Given the description of an element on the screen output the (x, y) to click on. 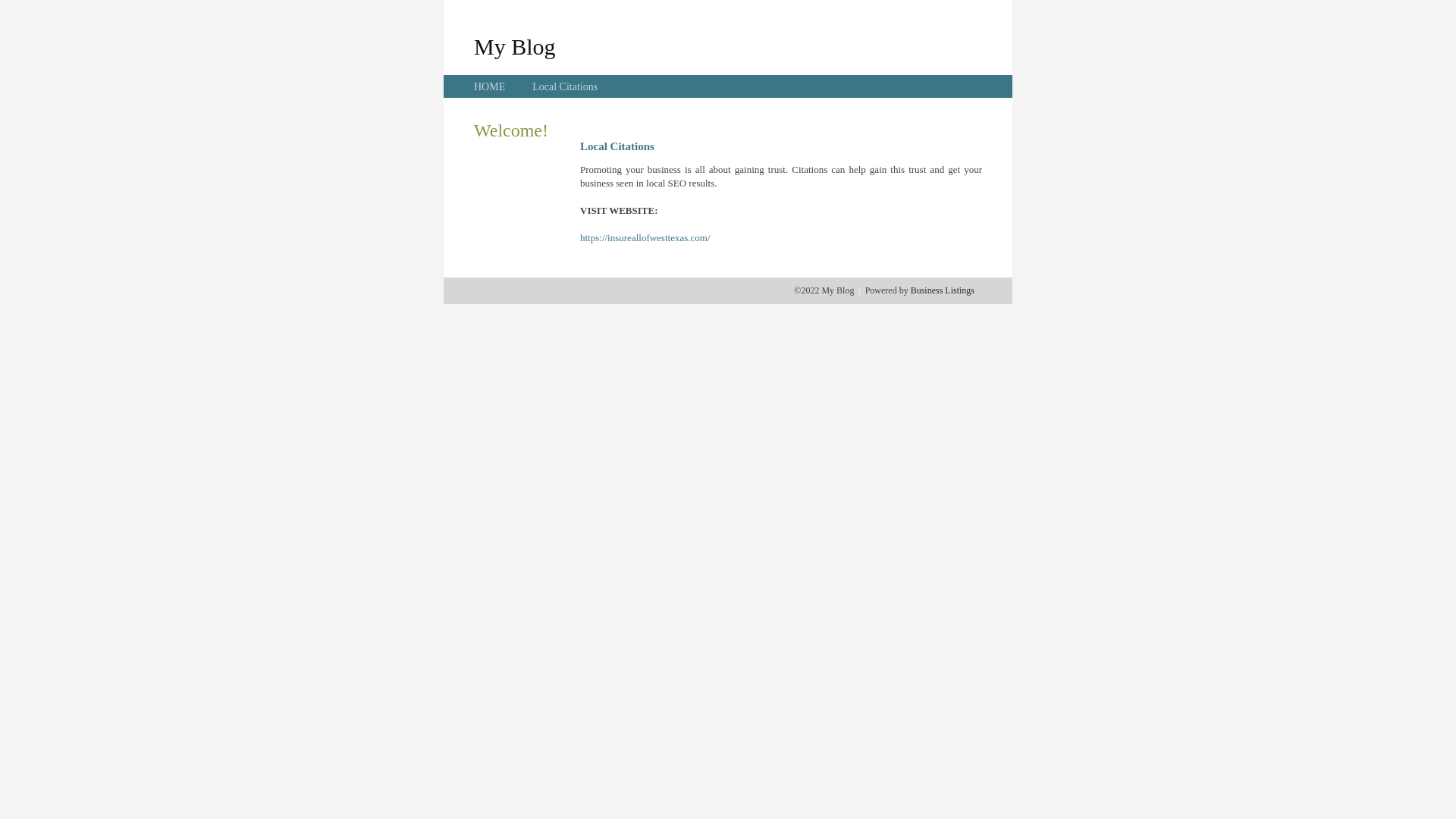
HOME Element type: text (489, 86)
https://insureallofwesttexas.com/ Element type: text (645, 237)
Business Listings Element type: text (942, 290)
Local Citations Element type: text (564, 86)
My Blog Element type: text (514, 46)
